Given the description of an element on the screen output the (x, y) to click on. 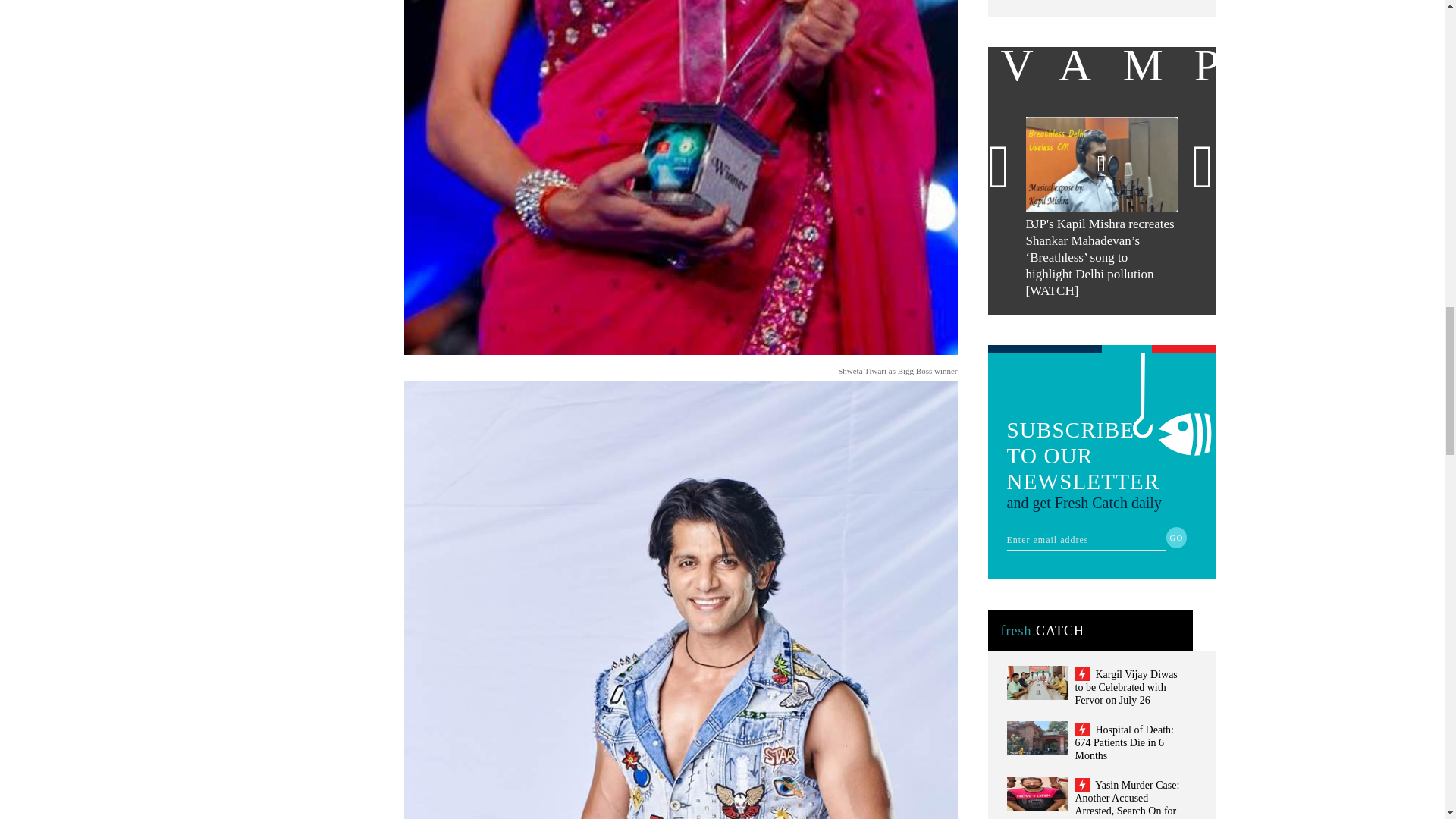
GO (1177, 537)
